Given the description of an element on the screen output the (x, y) to click on. 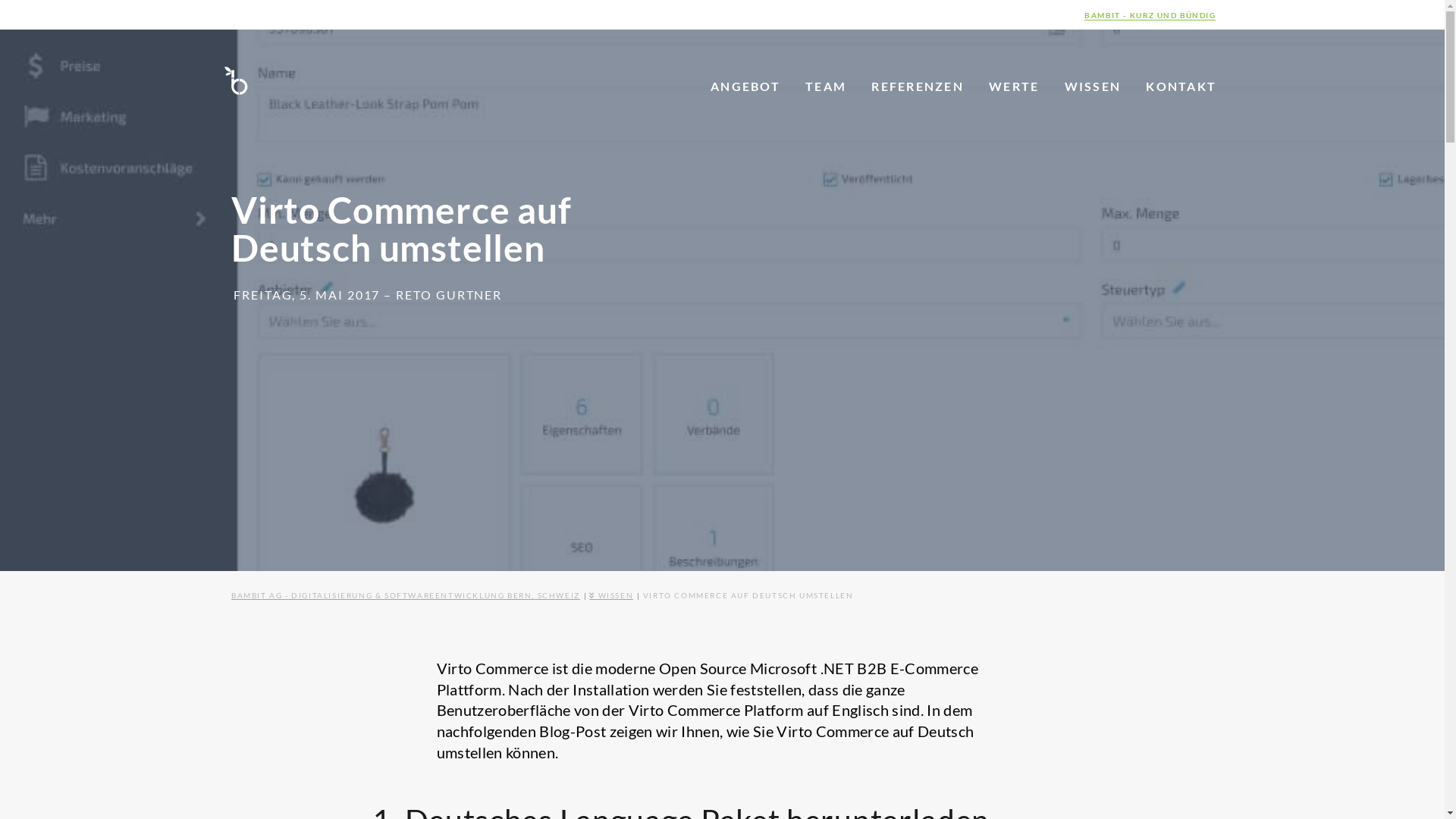
// // Element type: text (235, 80)
WISSEN Element type: text (1092, 86)
TEAM Element type: text (825, 86)
REFERENZEN Element type: text (916, 86)
ANGEBOT Element type: text (745, 86)
WISSEN Element type: text (611, 594)
WERTE Element type: text (1013, 86)
KONTAKT Element type: text (1181, 86)
